Given the description of an element on the screen output the (x, y) to click on. 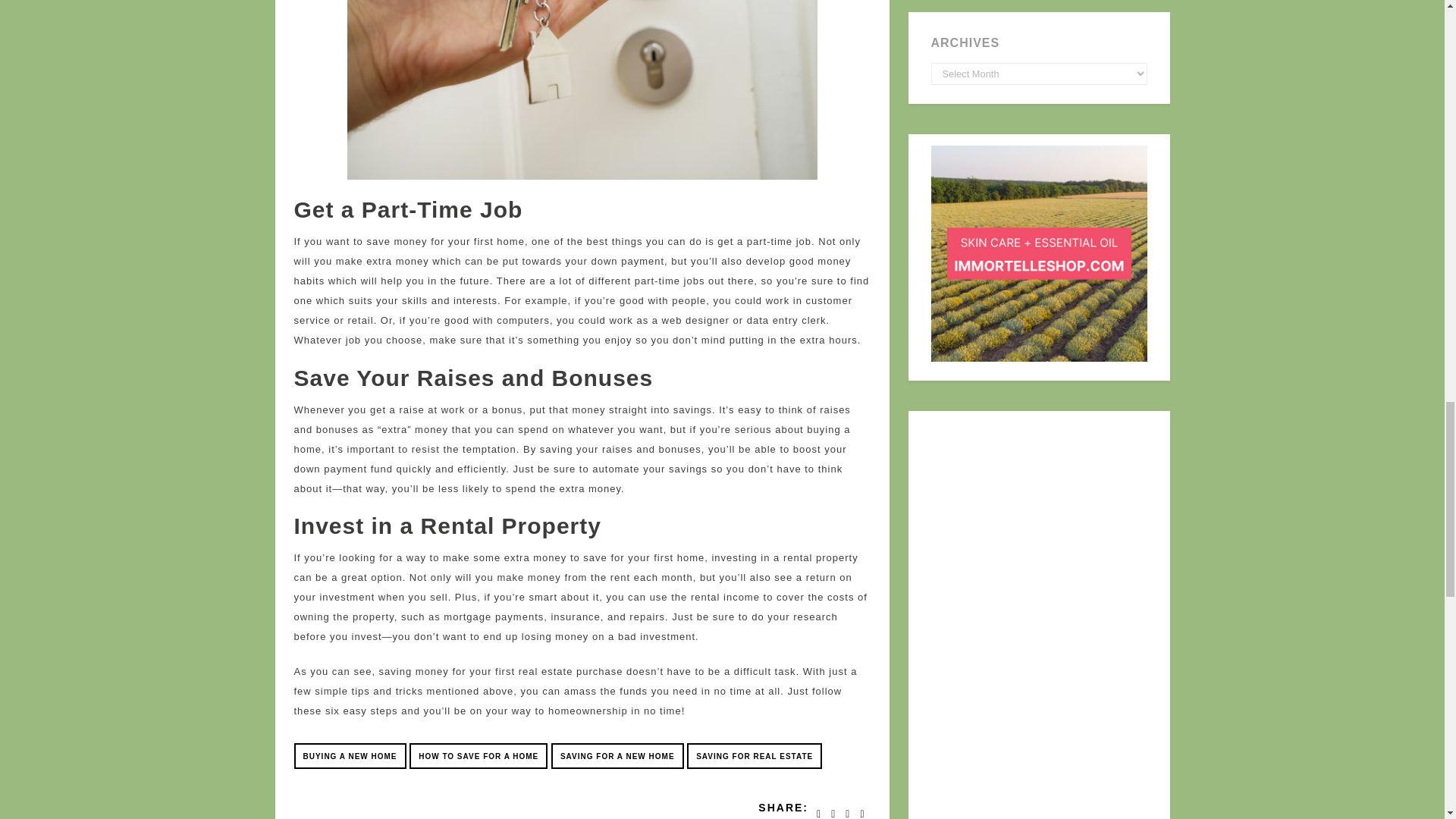
SAVING FOR A NEW HOME (617, 755)
HOW TO SAVE FOR A HOME (478, 755)
BUYING A NEW HOME (350, 755)
SAVING FOR REAL ESTATE (754, 755)
